Given the description of an element on the screen output the (x, y) to click on. 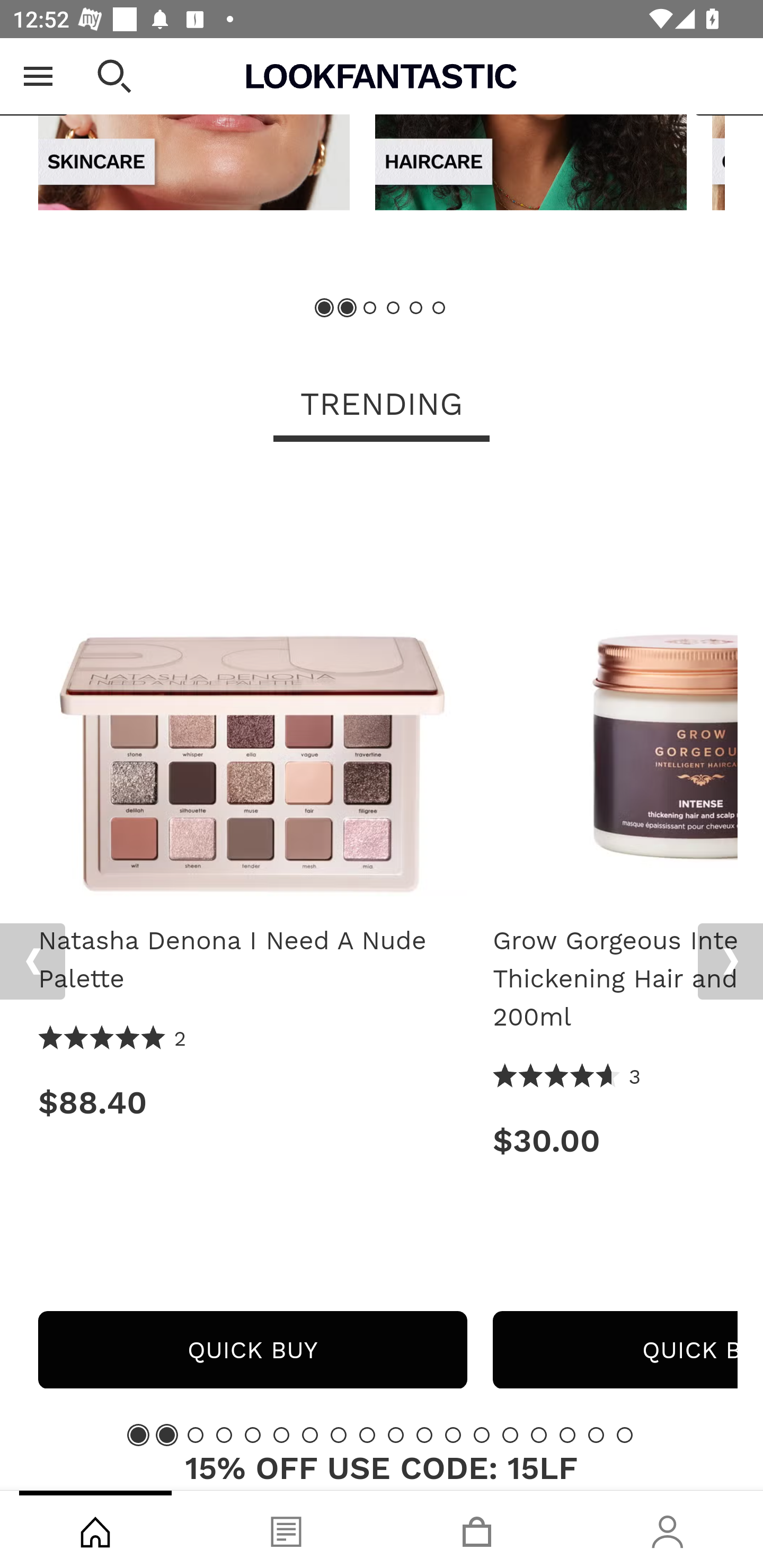
Previous (35, 77)
Showing Slide 1 (Current Item) (324, 309)
Showing Slide 2 (Current Item) (347, 309)
Slide 3 (369, 309)
Slide 4 (393, 309)
Slide 5 (415, 309)
Slide 6 (437, 309)
TRENDING (381, 406)
Natasha Denona I Need A Nude Palette (252, 689)
Natasha Denona I Need A Nude Palette (252, 960)
Previous (32, 962)
Next (730, 962)
5.0 Stars 2 Reviews (112, 1039)
4.67 Stars 3 Reviews (567, 1077)
Price: $88.40 (252, 1103)
Price: $30.00 (614, 1142)
QUICK BUY NATASHA DENONA I NEED A NUDE PALETTE (252, 1350)
Showing Slide 1 (Current Item) (138, 1435)
Showing Slide 2 (Current Item) (166, 1435)
Slide 3 (195, 1435)
Slide 4 (223, 1435)
Slide 5 (252, 1435)
Slide 6 (281, 1435)
Slide 7 (310, 1435)
Slide 8 (338, 1435)
Slide 9 (367, 1435)
Slide 10 (395, 1435)
Slide 11 (424, 1435)
Slide 12 (452, 1435)
Slide 13 (481, 1435)
Slide 14 (510, 1435)
Slide 15 (539, 1435)
Slide 16 (567, 1435)
Slide 17 (596, 1435)
Slide 18 (624, 1435)
Shop, tab, 1 of 4 (95, 1529)
Blog, tab, 2 of 4 (285, 1529)
Basket, tab, 3 of 4 (476, 1529)
Account, tab, 4 of 4 (667, 1529)
